Given the description of an element on the screen output the (x, y) to click on. 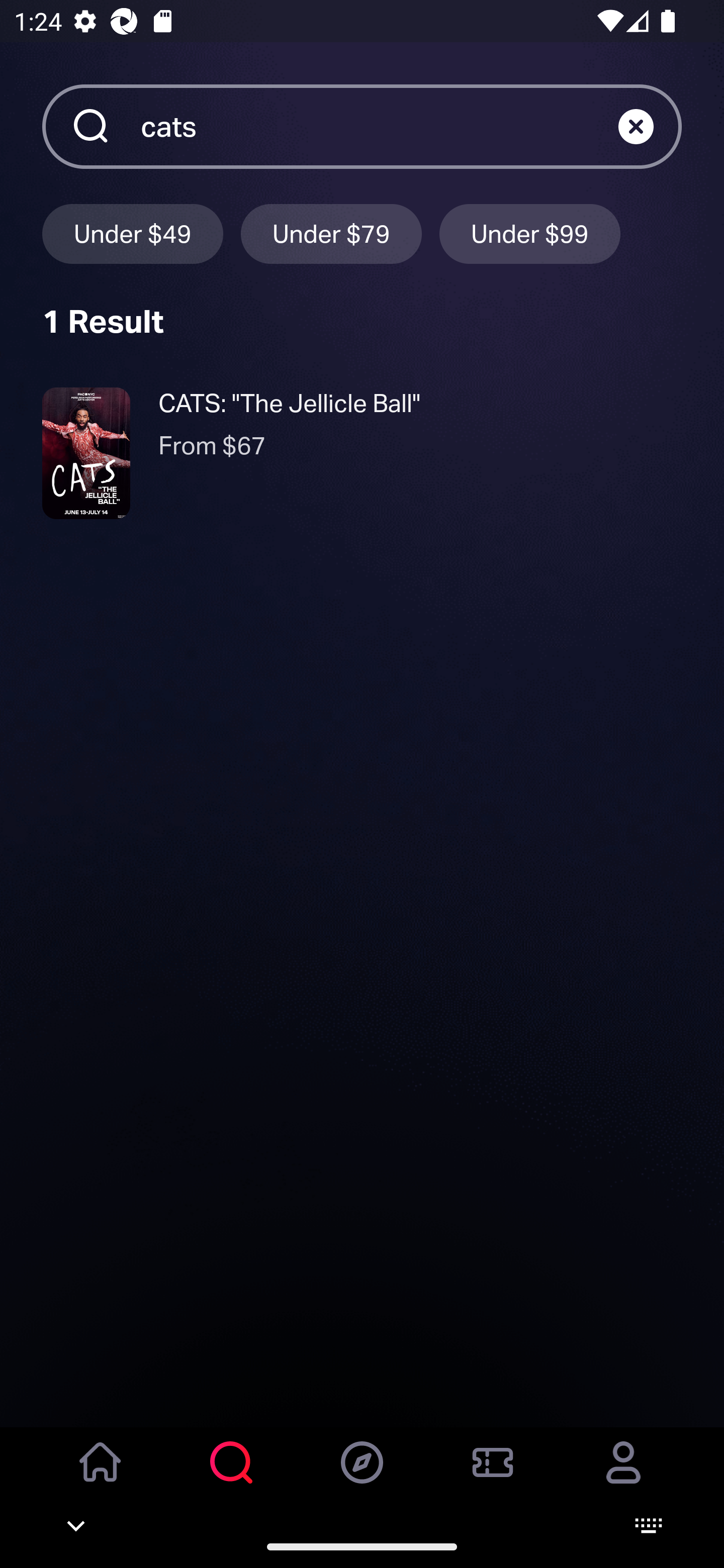
cats (379, 126)
Under $49 (131, 233)
Under $79 (331, 233)
Under $99 (529, 233)
Home (100, 1475)
Discover (361, 1475)
Orders (492, 1475)
Account (623, 1475)
